Given the description of an element on the screen output the (x, y) to click on. 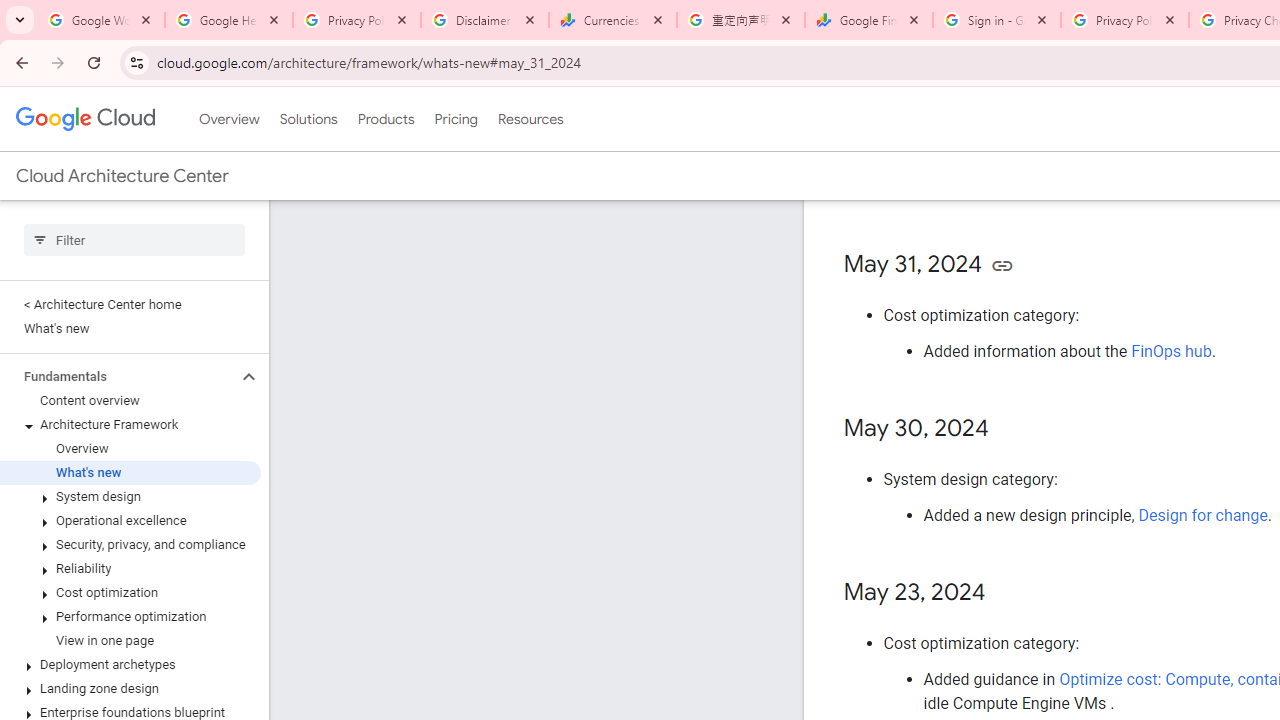
Landing zone design (130, 688)
optimizing (1151, 163)
